Given the description of an element on the screen output the (x, y) to click on. 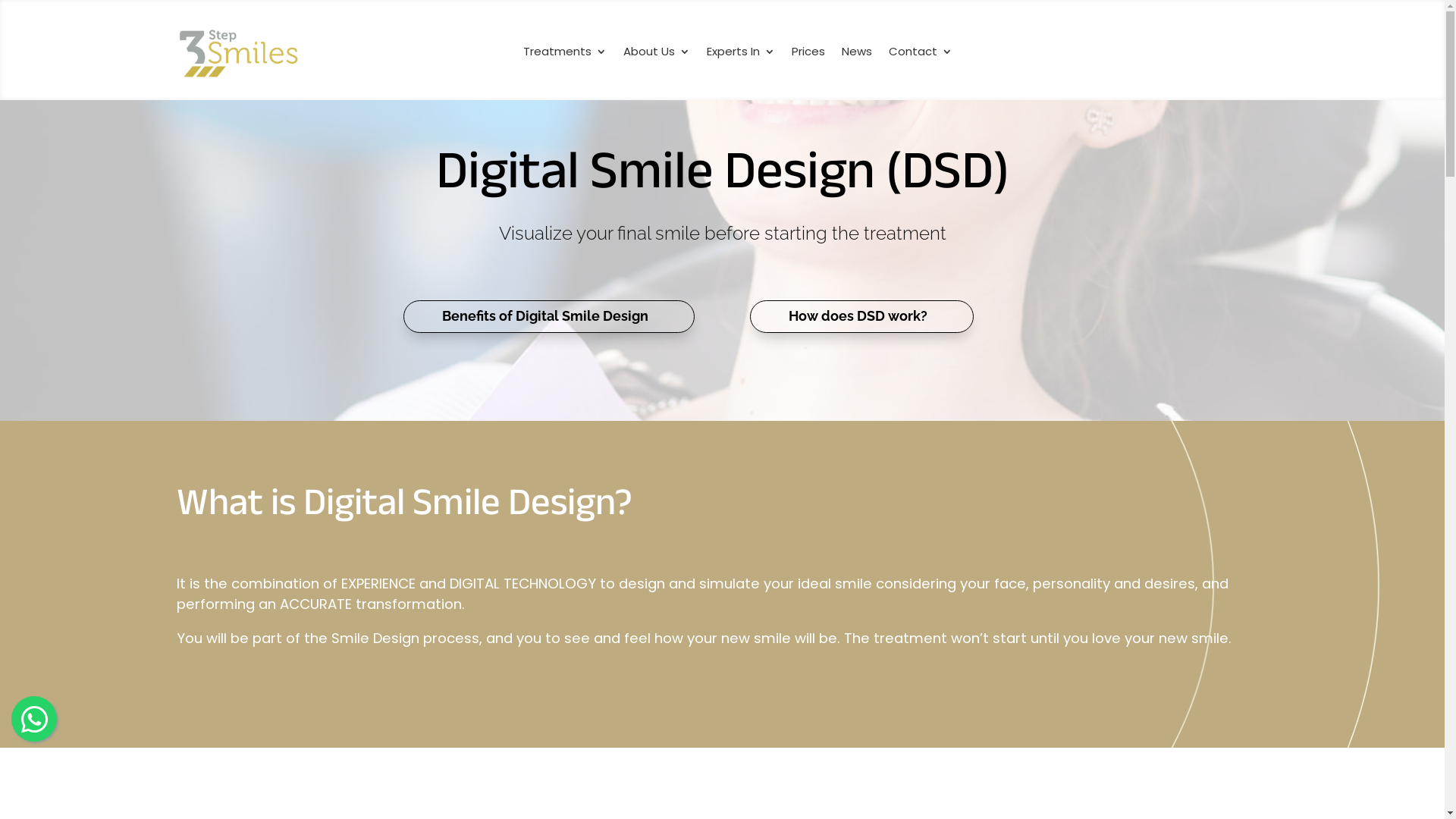
About Us Element type: text (656, 54)
3 Step Smiles Element type: hover (238, 52)
Contact Element type: text (920, 54)
Experts In Element type: text (740, 54)
Benefits of Digital Smile Design Element type: text (548, 316)
Prices Element type: text (808, 54)
How does DSD work? Element type: text (861, 316)
Treatments Element type: text (564, 54)
News Element type: text (856, 54)
